Given the description of an element on the screen output the (x, y) to click on. 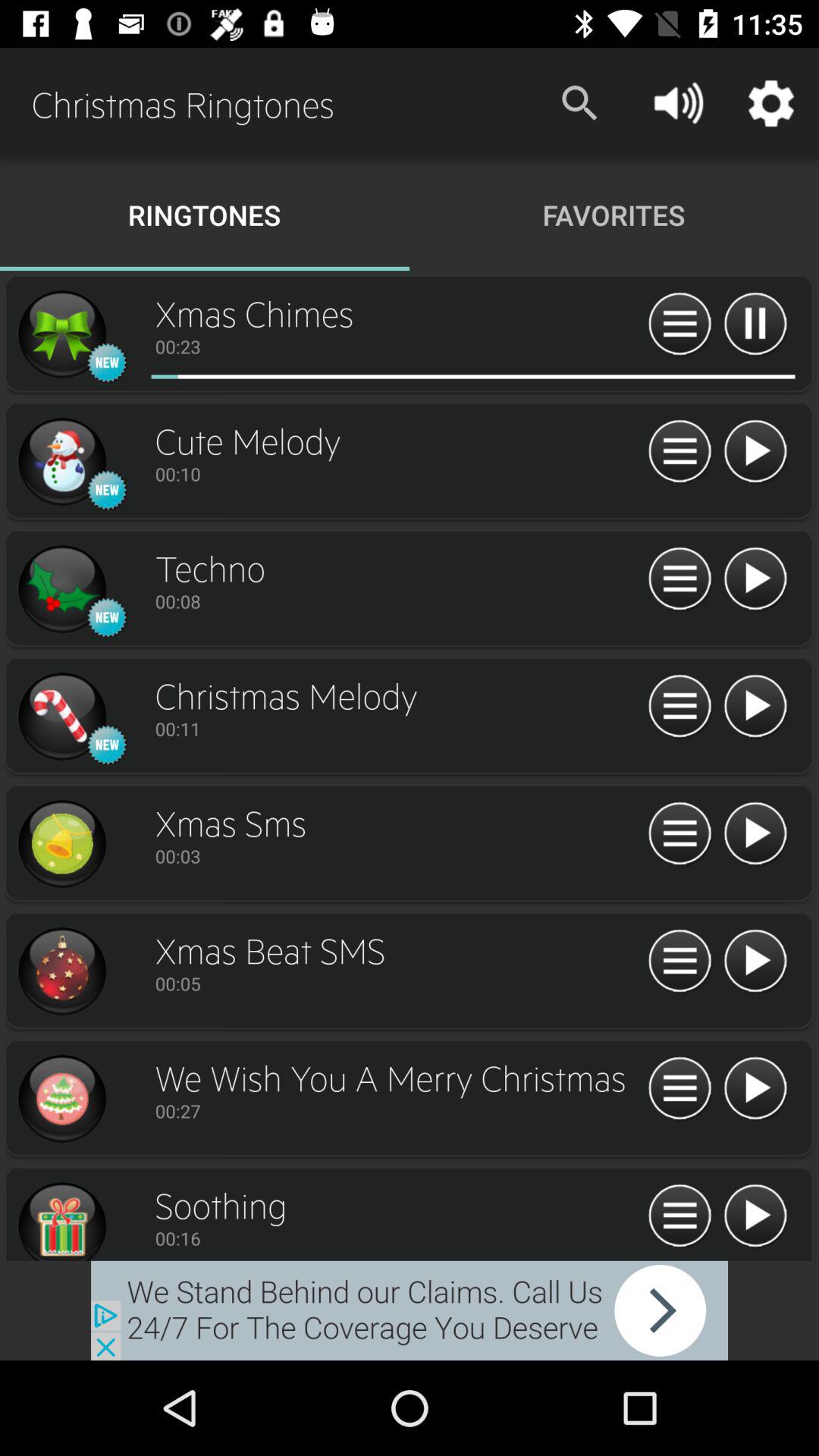
go to external advertisement page (409, 1310)
